Given the description of an element on the screen output the (x, y) to click on. 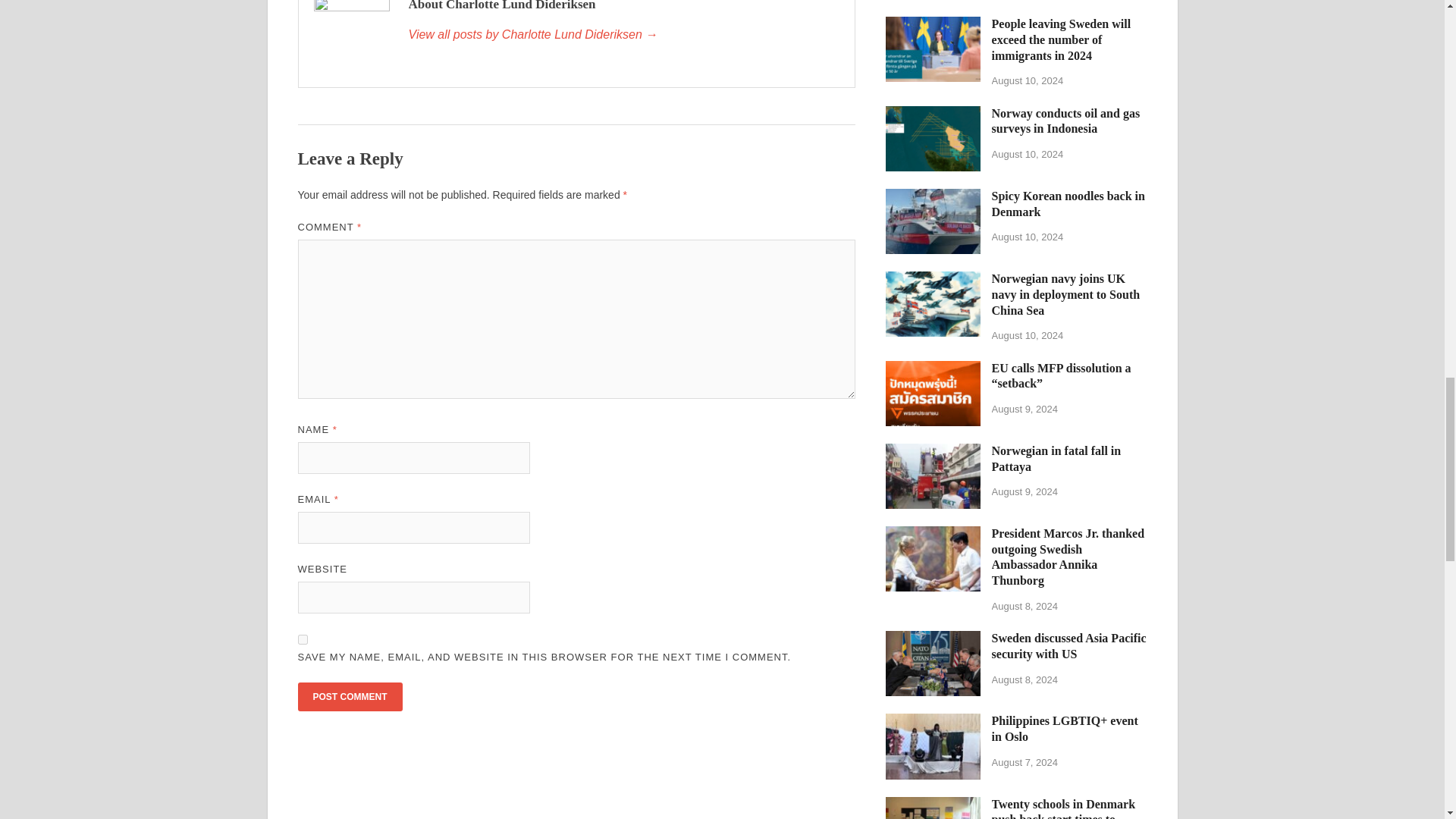
Charlotte Lund Dideriksen (622, 34)
yes (302, 639)
Norway conducts oil and gas surveys in Indonesia (932, 114)
Spicy Korean noodles back in Denmark (932, 196)
Post Comment (349, 696)
Norwegian in fatal fall in Pattaya (932, 451)
Sweden discussed Asia Pacific security with US (932, 639)
